Given the description of an element on the screen output the (x, y) to click on. 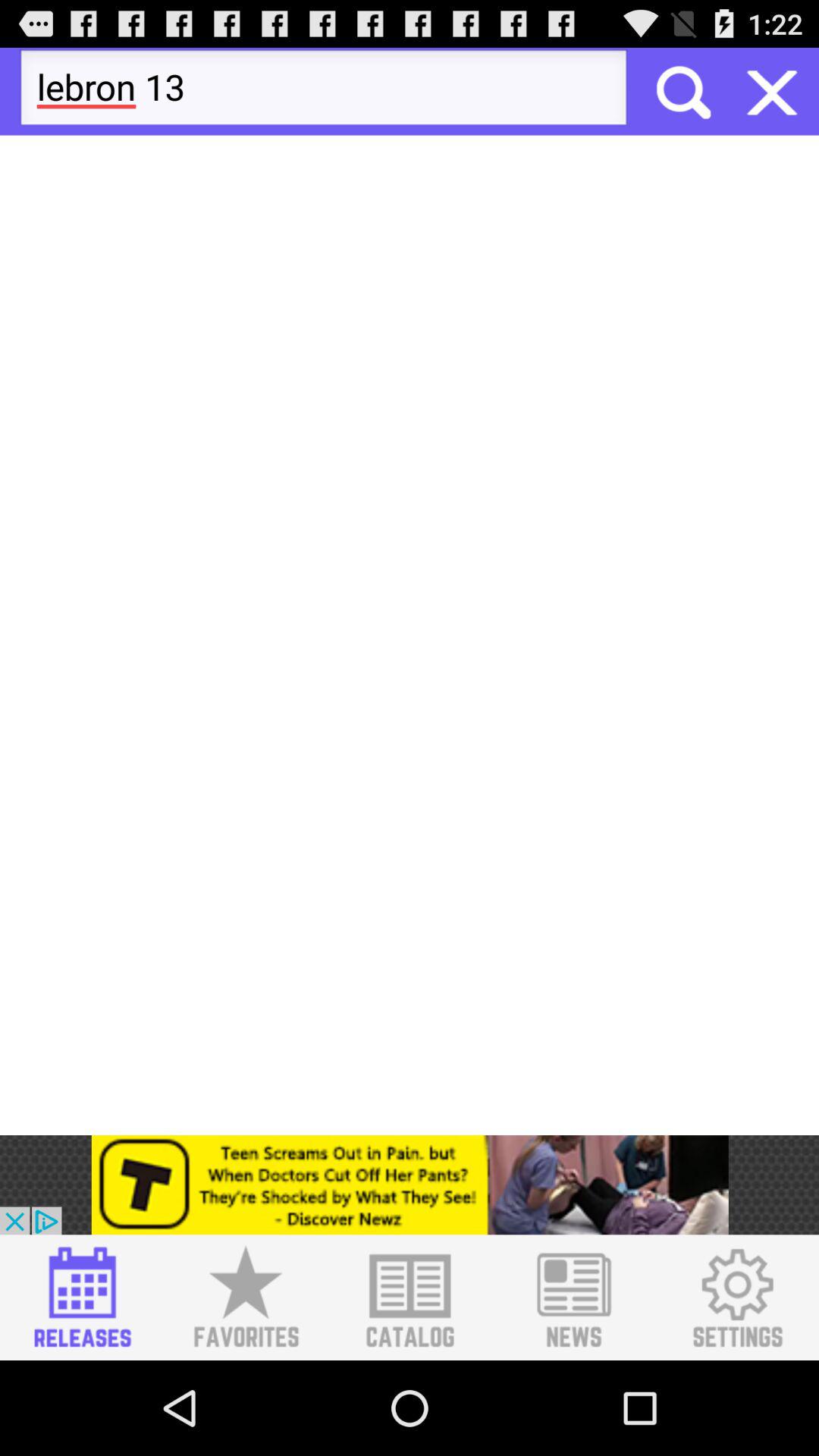
catalog list (409, 1297)
